Given the description of an element on the screen output the (x, y) to click on. 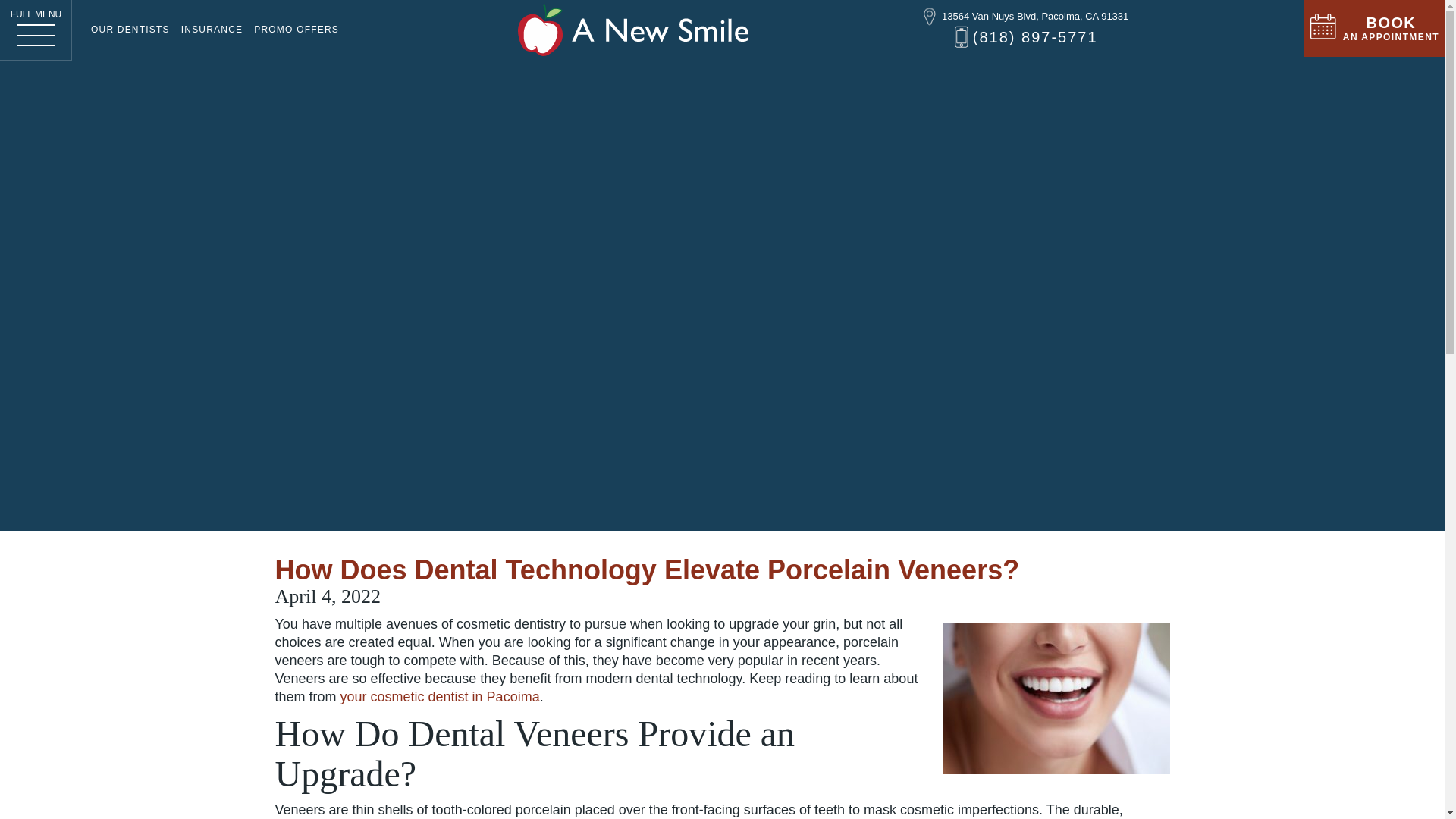
DENTAL INSURANCE (855, 8)
FOR PATIENTS (711, 8)
CONTACT (1074, 8)
HOME (388, 8)
ABOUT US (470, 8)
REVIEWS (983, 8)
OUR SERVICES (584, 8)
